Given the description of an element on the screen output the (x, y) to click on. 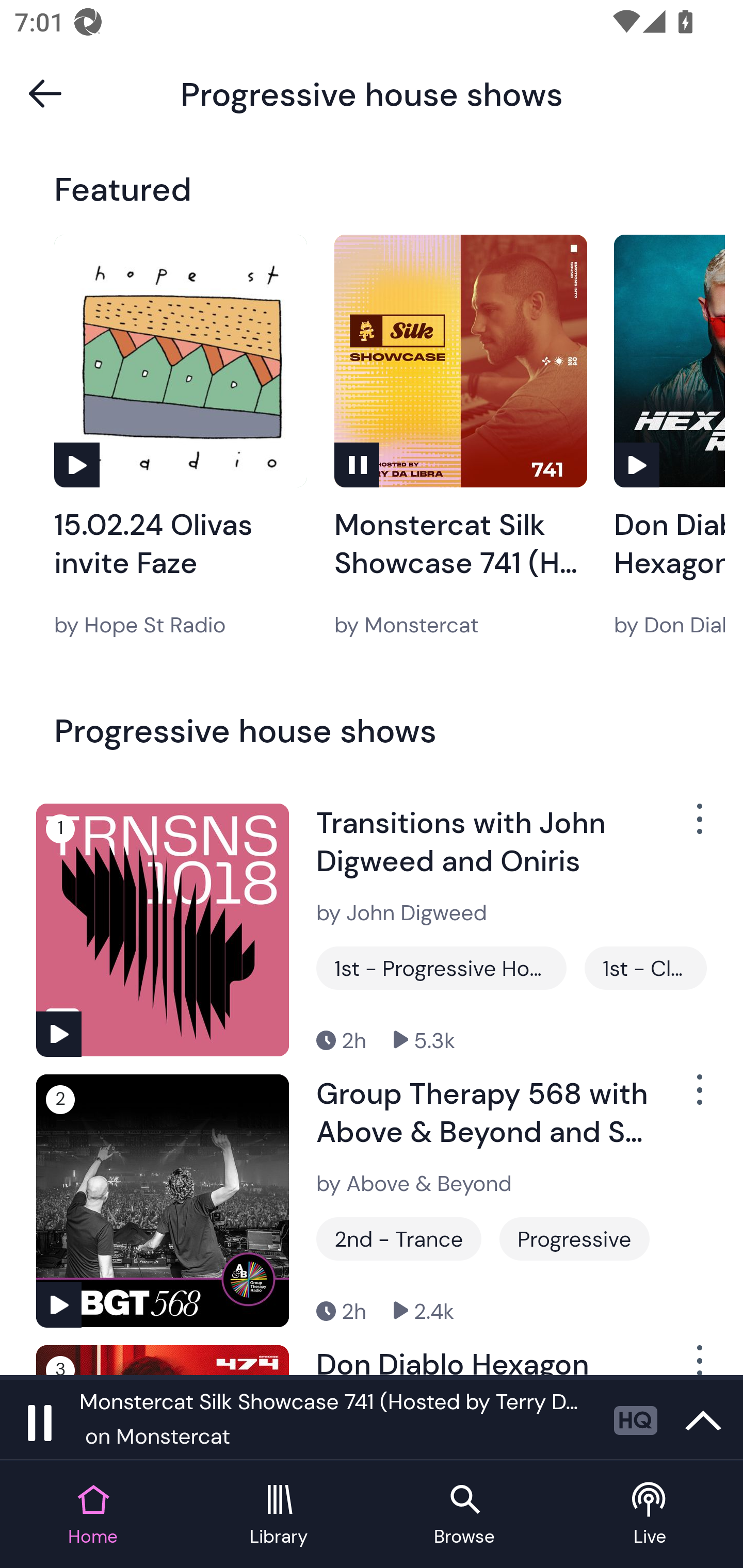
Show Options Menu Button (697, 825)
1st - Progressive House (441, 968)
1st - Club (645, 968)
Show Options Menu Button (697, 1097)
2nd - Trance (398, 1238)
Progressive (574, 1238)
Show Options Menu Button (697, 1360)
Home tab Home (92, 1515)
Library tab Library (278, 1515)
Browse tab Browse (464, 1515)
Live tab Live (650, 1515)
